Given the description of an element on the screen output the (x, y) to click on. 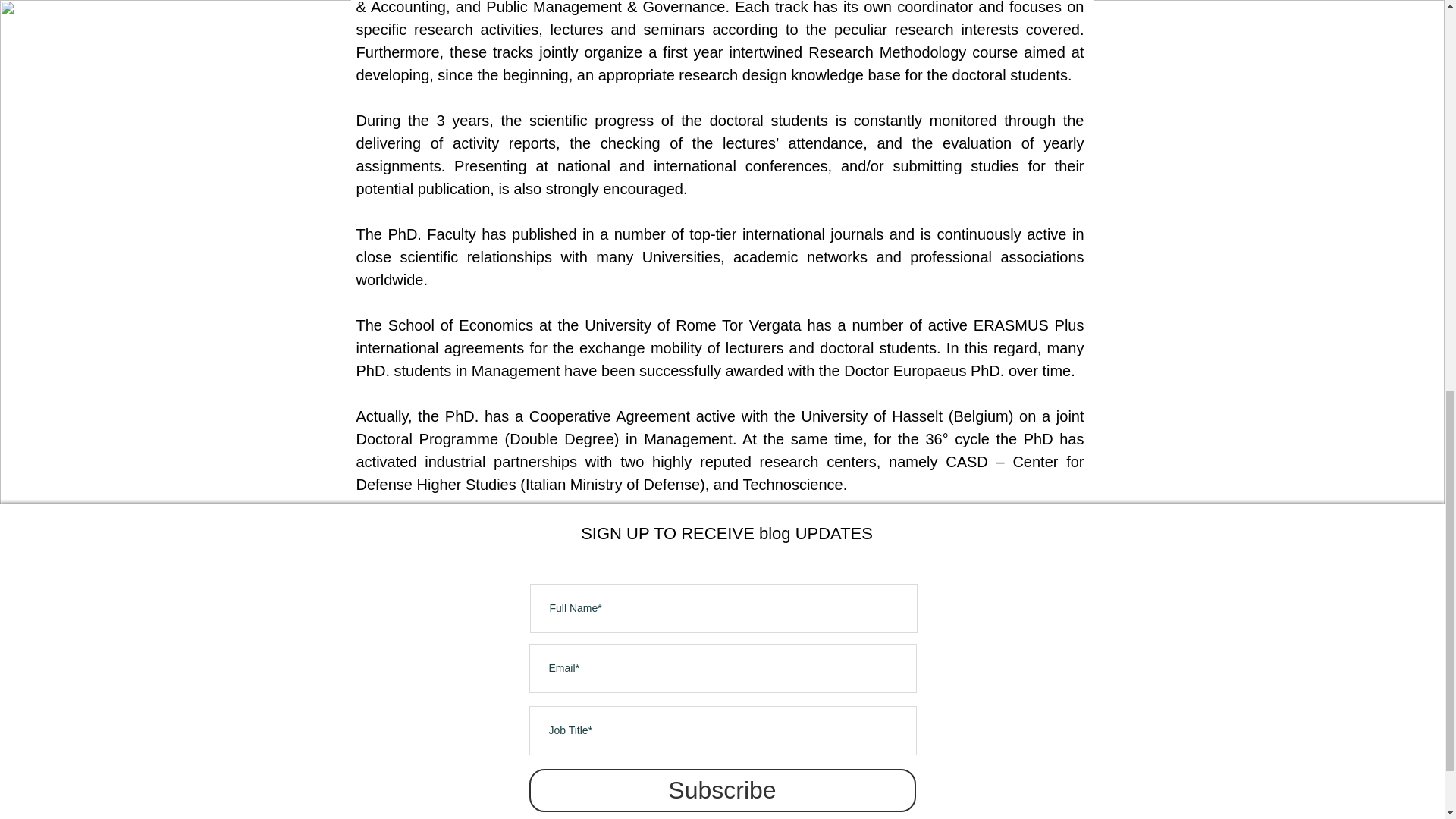
Subscribe (722, 790)
